Given the description of an element on the screen output the (x, y) to click on. 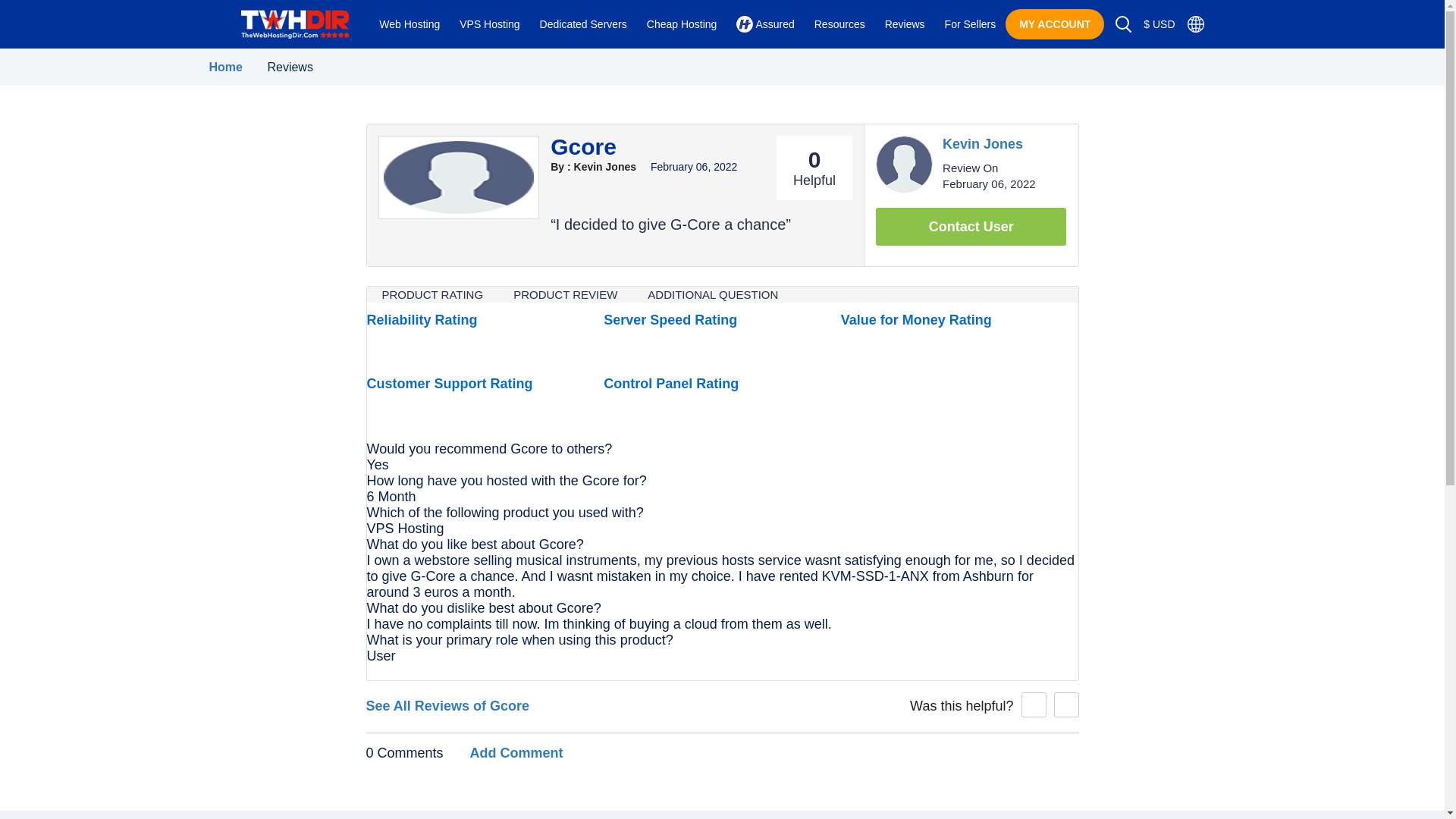
The Best Web Hosting Directory - TheWebHostingDir.com (295, 23)
Cheap Hosting (681, 24)
Web Hosting (409, 24)
Filter All Dedicated Servers Plans (583, 24)
TheWebHostingDir.com (295, 23)
Assured (764, 24)
Resources (840, 24)
VPS Hosting (489, 24)
Dedicated Servers (583, 24)
